Given the description of an element on the screen output the (x, y) to click on. 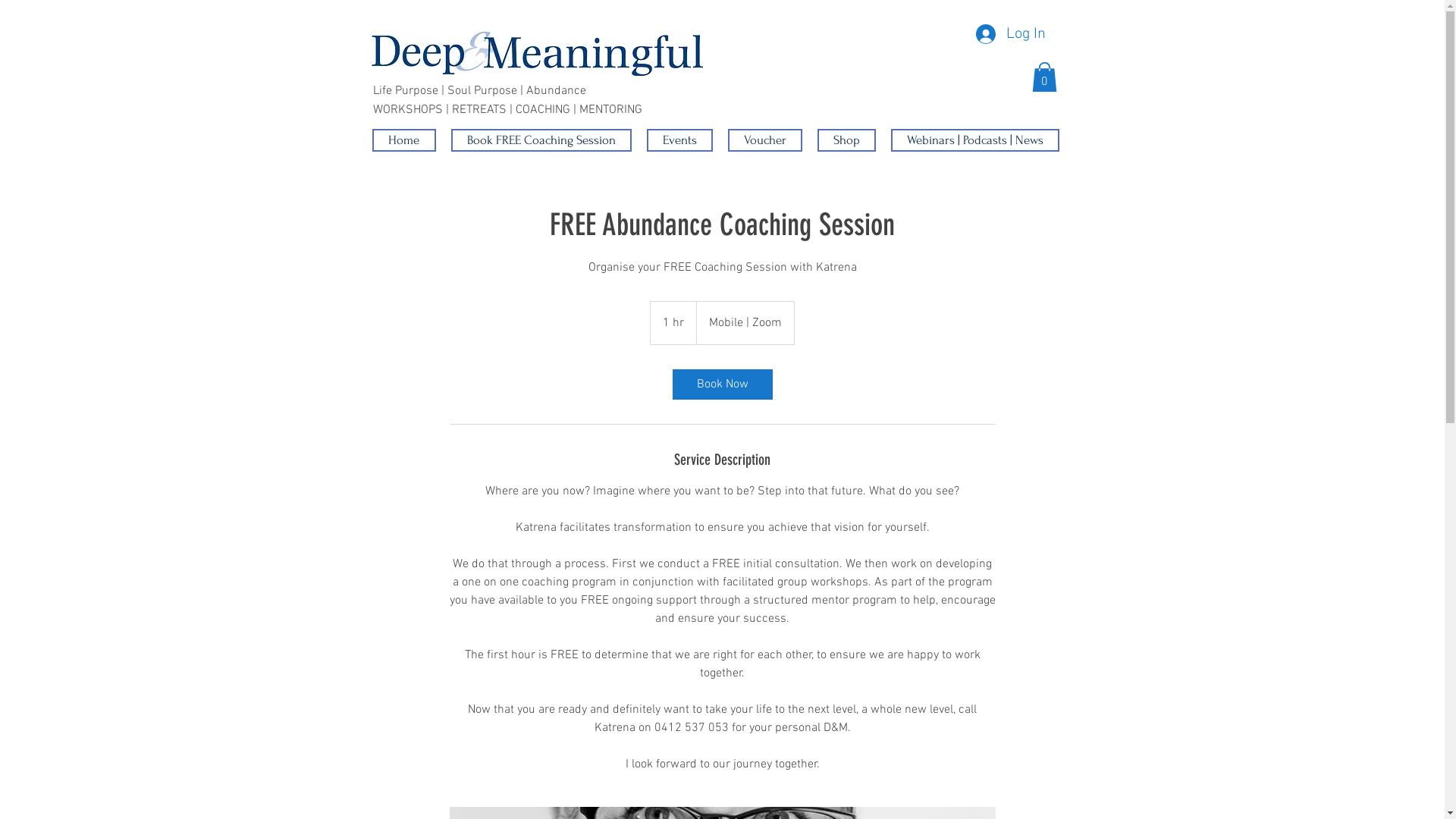
Webinars | Podcasts | News Element type: text (974, 139)
Book FREE Coaching Session Element type: text (540, 139)
Voucher Element type: text (765, 139)
Events Element type: text (679, 139)
Book Now Element type: text (721, 384)
0 Element type: text (1043, 76)
Log In Element type: text (1009, 34)
Home Element type: text (403, 139)
Shop Element type: text (846, 139)
